Given the description of an element on the screen output the (x, y) to click on. 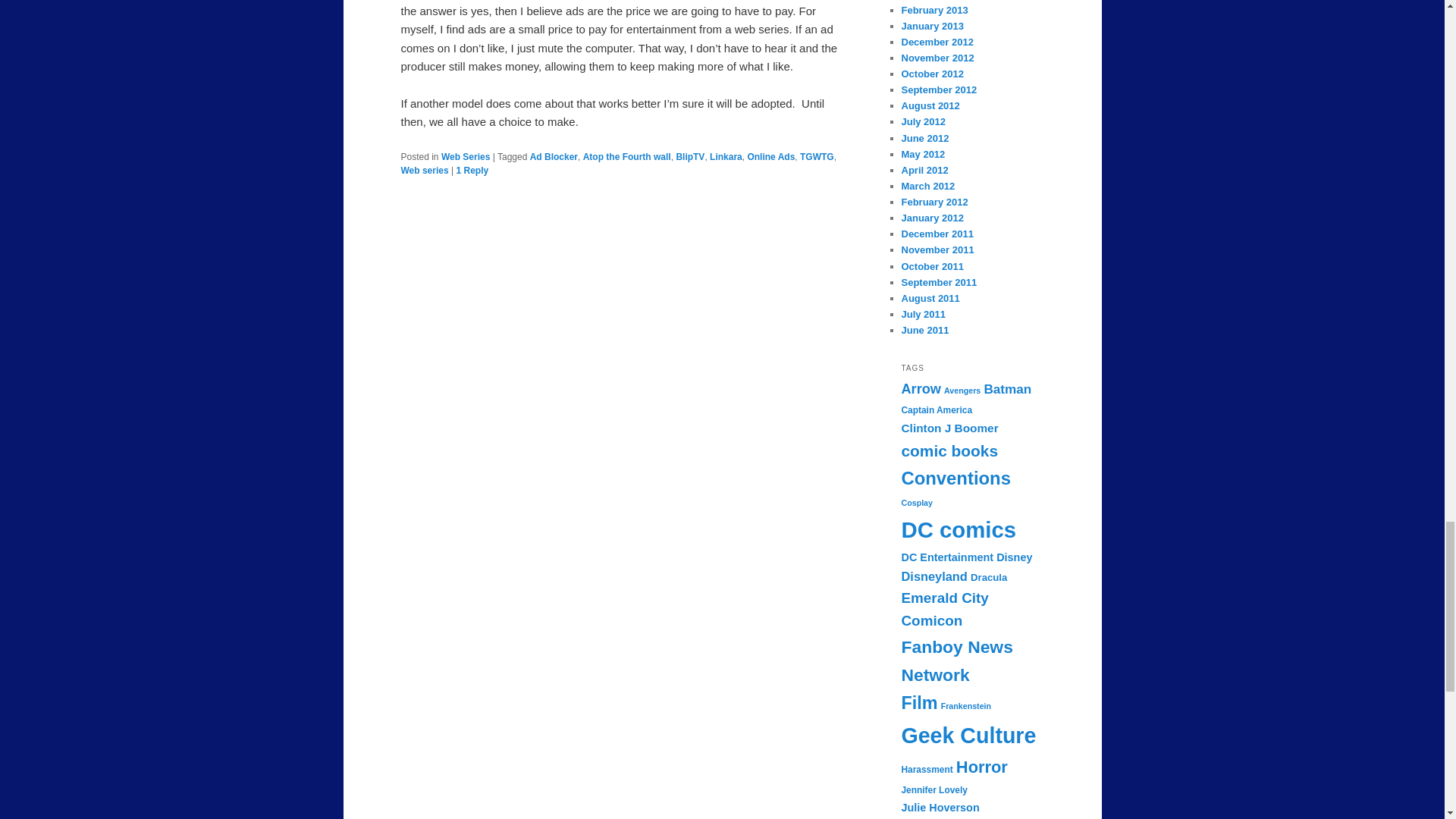
TGWTG (816, 156)
Atop the Fourth wall (627, 156)
Web series (424, 170)
Web Series (465, 156)
Online Ads (770, 156)
BlipTV (689, 156)
Linkara (726, 156)
1 Reply (471, 170)
Ad Blocker (553, 156)
